Given the description of an element on the screen output the (x, y) to click on. 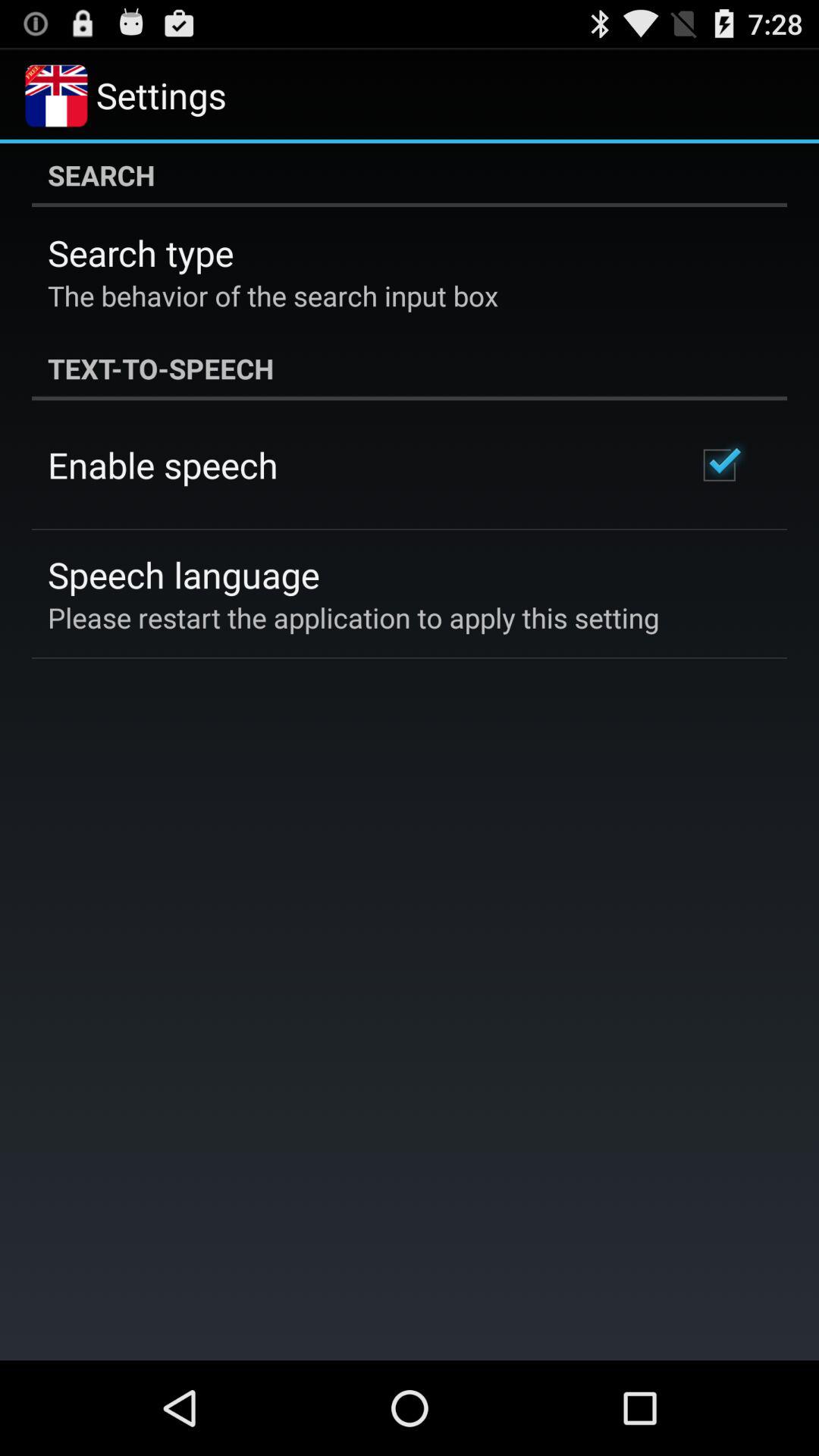
select item below the search icon (140, 252)
